Given the description of an element on the screen output the (x, y) to click on. 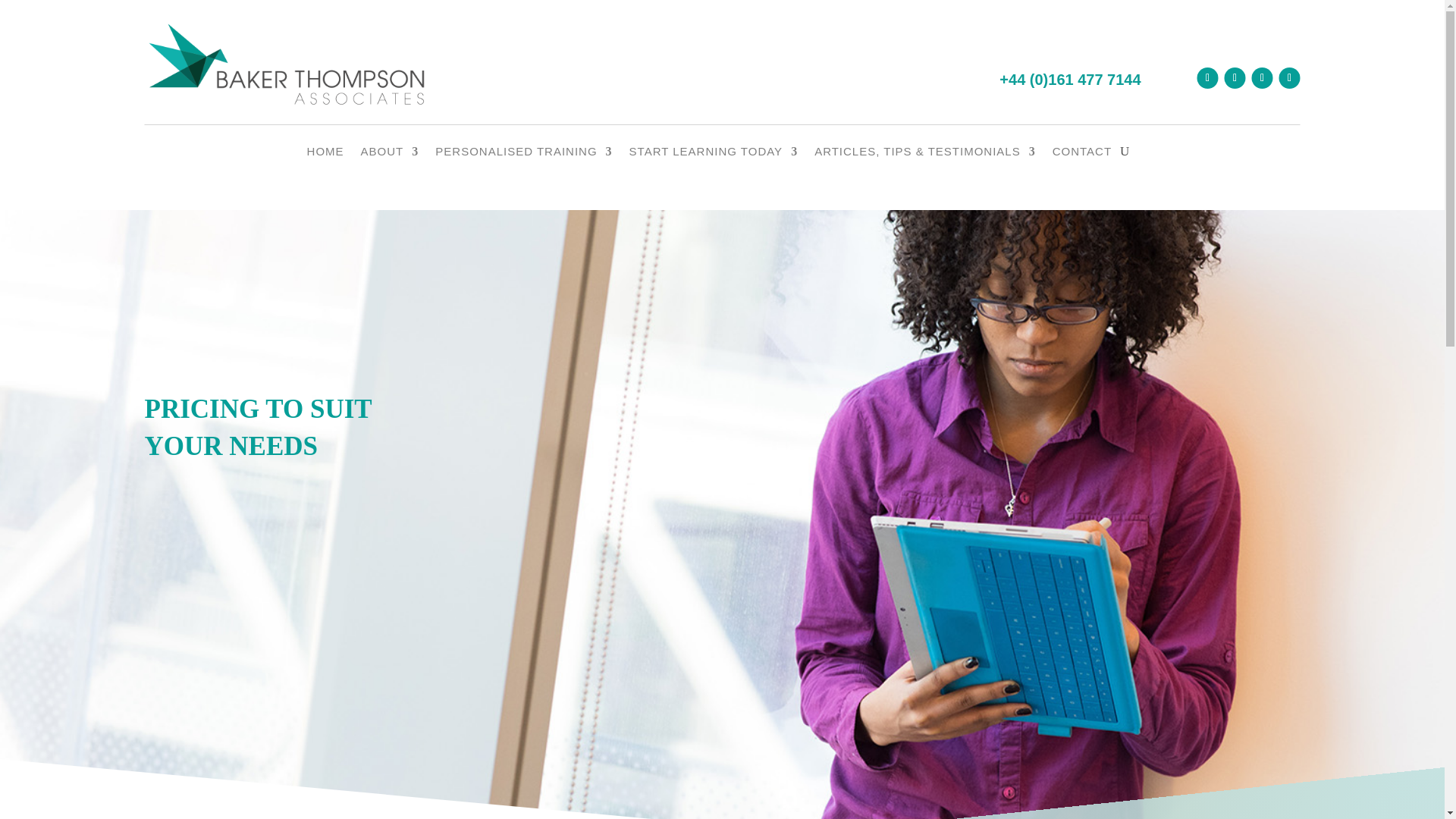
Follow on LinkedIn (1206, 77)
ABOUT (390, 154)
Follow on Instagram (1289, 77)
Follow on Facebook (1234, 77)
START LEARNING TODAY (712, 154)
HOME (325, 154)
PERSONALISED TRAINING (523, 154)
hblogo copy1 (287, 65)
Follow on X (1261, 77)
